Given the description of an element on the screen output the (x, y) to click on. 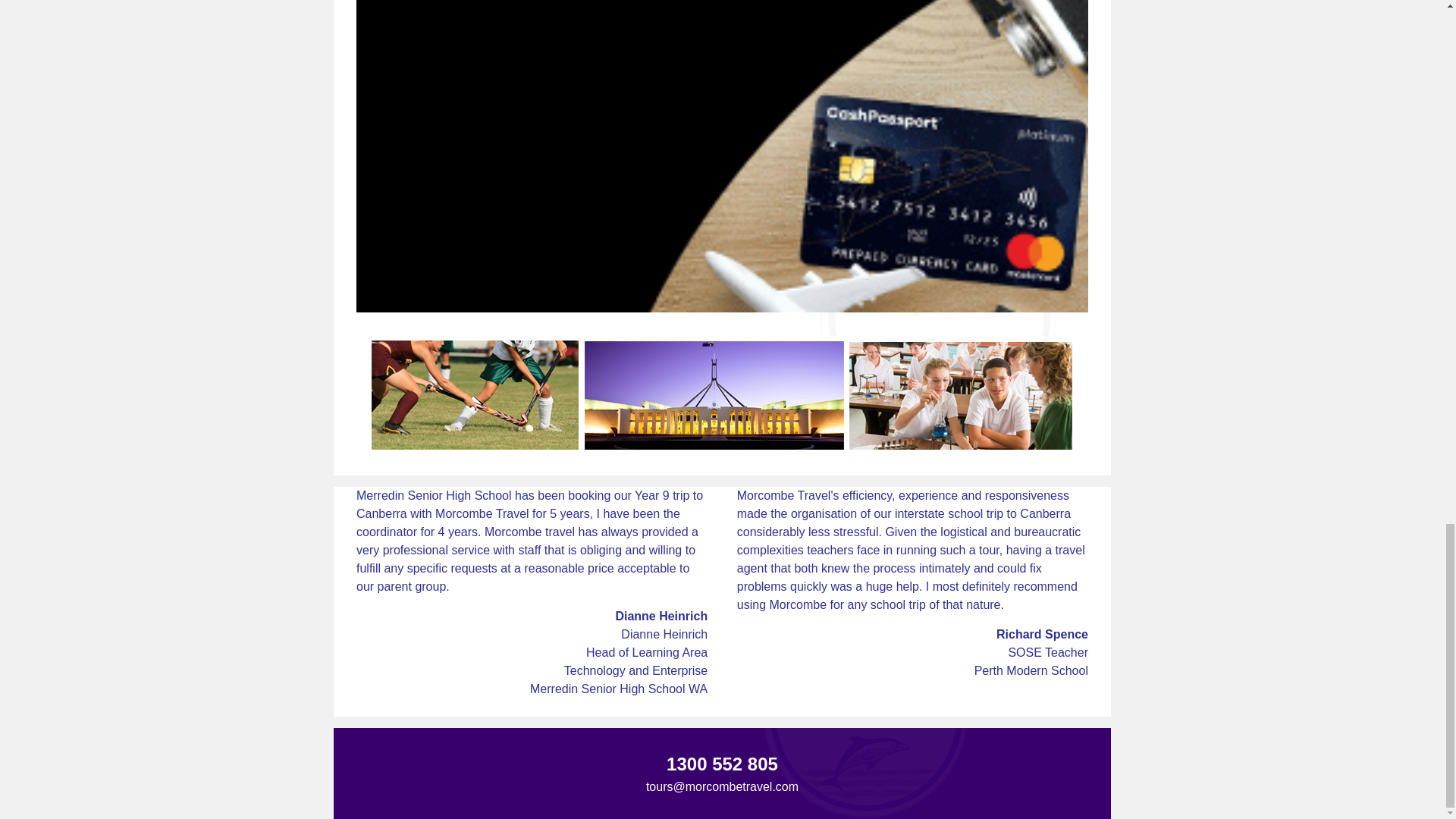
1300 552 805 (721, 763)
